Given the description of an element on the screen output the (x, y) to click on. 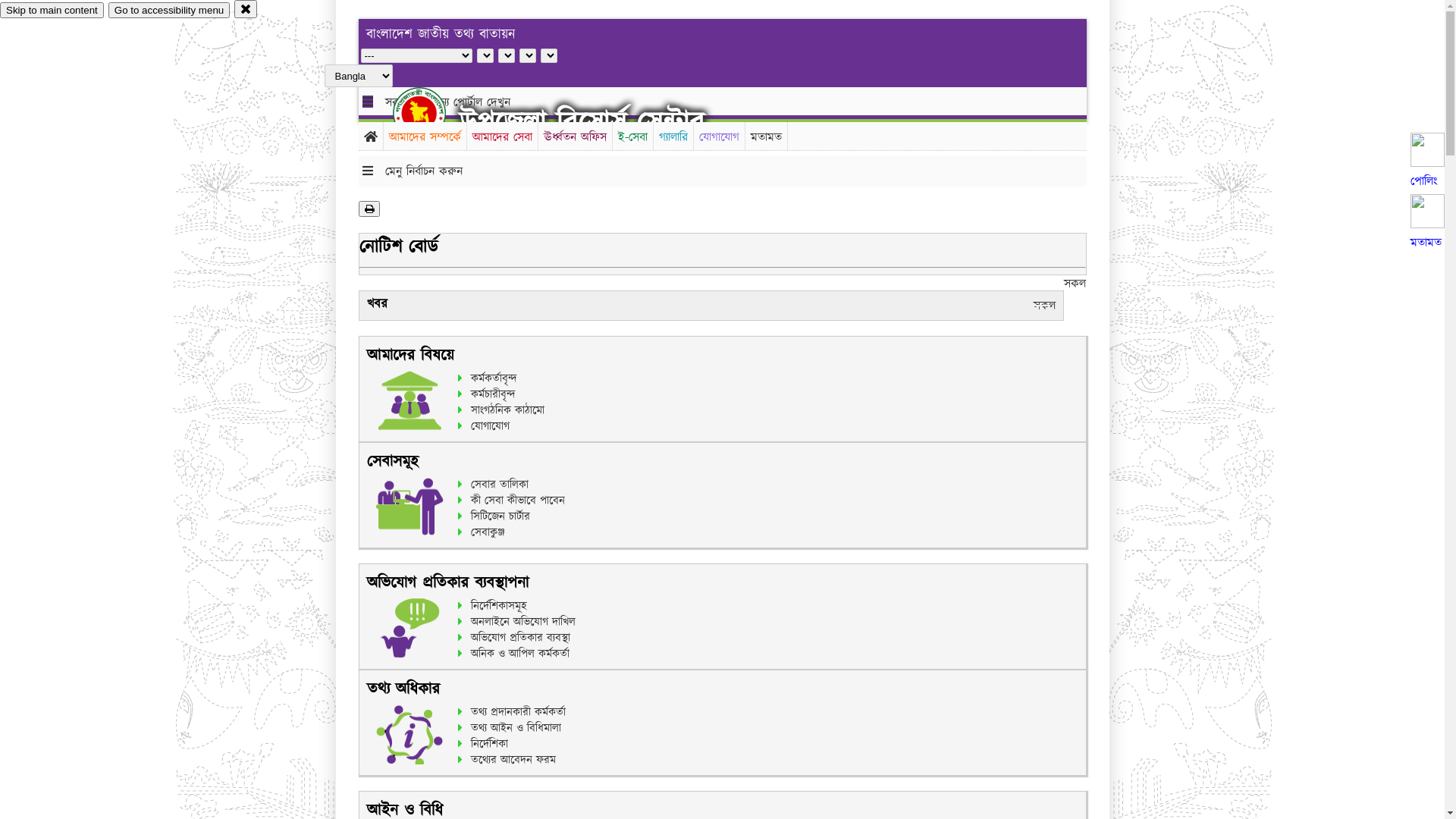

                
             Element type: hover (431, 112)
Skip to main content Element type: text (51, 10)
close Element type: hover (245, 9)
Go to accessibility menu Element type: text (168, 10)
